Given the description of an element on the screen output the (x, y) to click on. 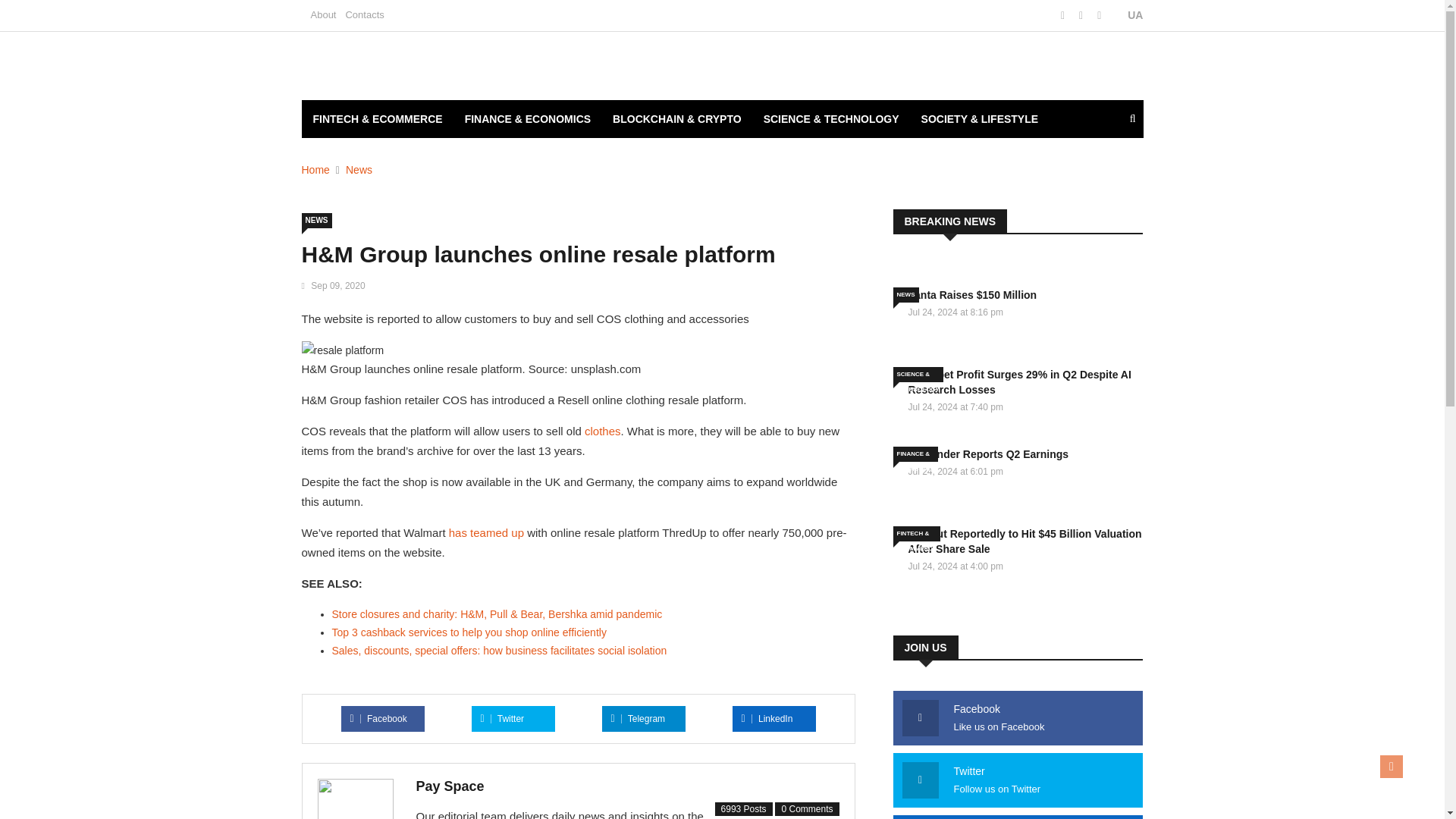
UA (1127, 15)
NEWS (316, 220)
Twitter (502, 718)
About (323, 14)
Telegram (638, 718)
has teamed up (486, 532)
clothes (603, 431)
Top 3 cashback services to help you shop online efficiently (469, 632)
Facebook (378, 718)
Home (315, 169)
BIN CHECKER (349, 157)
News (359, 169)
Contacts (364, 14)
LinkedIn (767, 718)
